Given the description of an element on the screen output the (x, y) to click on. 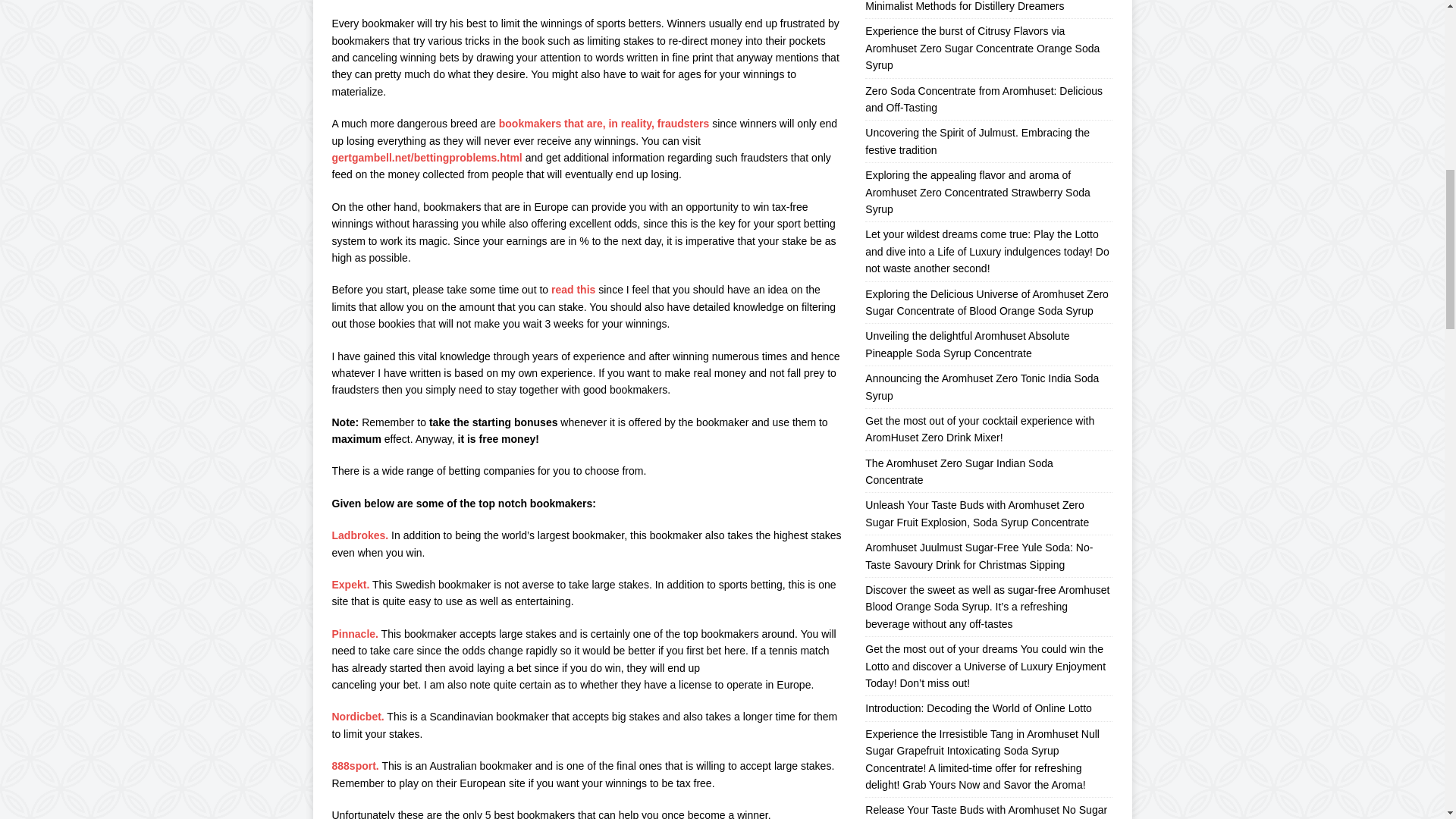
Nordicbet. (357, 716)
888sport. (354, 766)
Pinnacle. (354, 633)
read this (571, 289)
Ladbrokes. (359, 535)
Expekt. (350, 584)
bookmakers that are, in reality, fraudsters (602, 123)
